Given the description of an element on the screen output the (x, y) to click on. 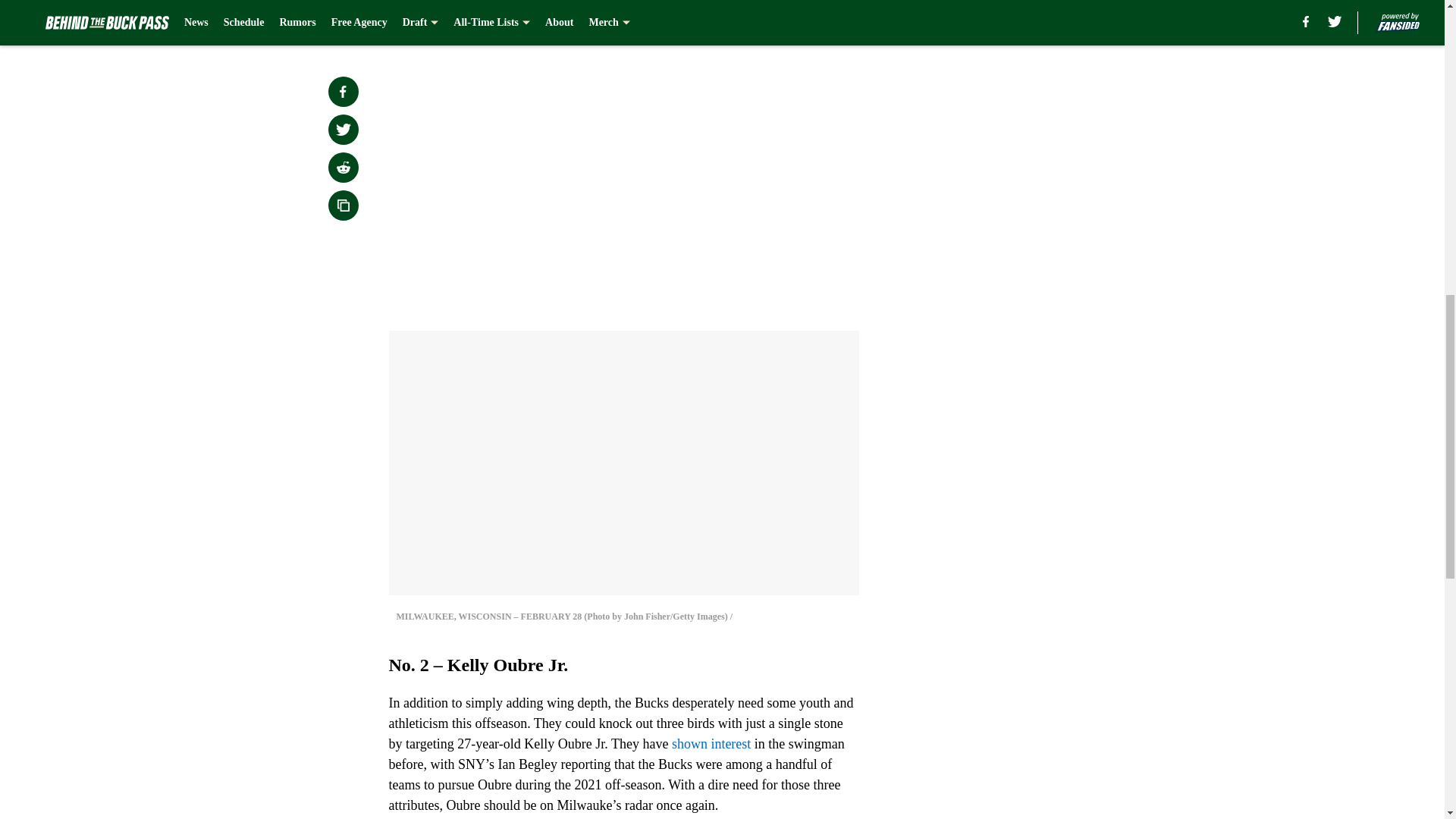
Prev (433, 20)
shown interest (711, 743)
Next (813, 20)
